Given the description of an element on the screen output the (x, y) to click on. 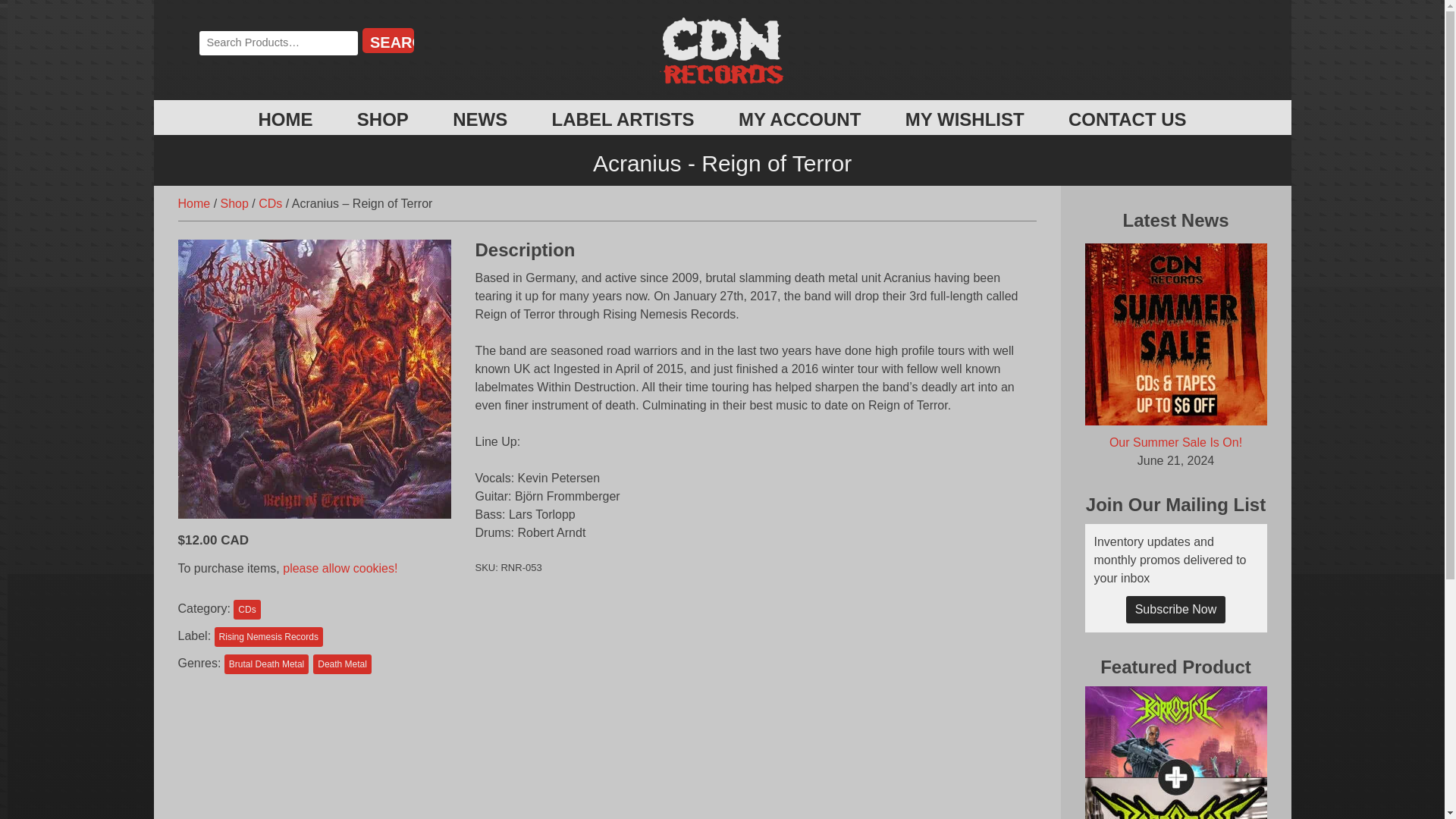
MY ACCOUNT (799, 119)
LABEL ARTISTS (622, 119)
CDs (246, 609)
MY WISHLIST (965, 119)
Home (193, 203)
Search (387, 40)
SHOP (382, 119)
CDs (270, 203)
CONTACT US (1127, 119)
Shop (234, 203)
